Given the description of an element on the screen output the (x, y) to click on. 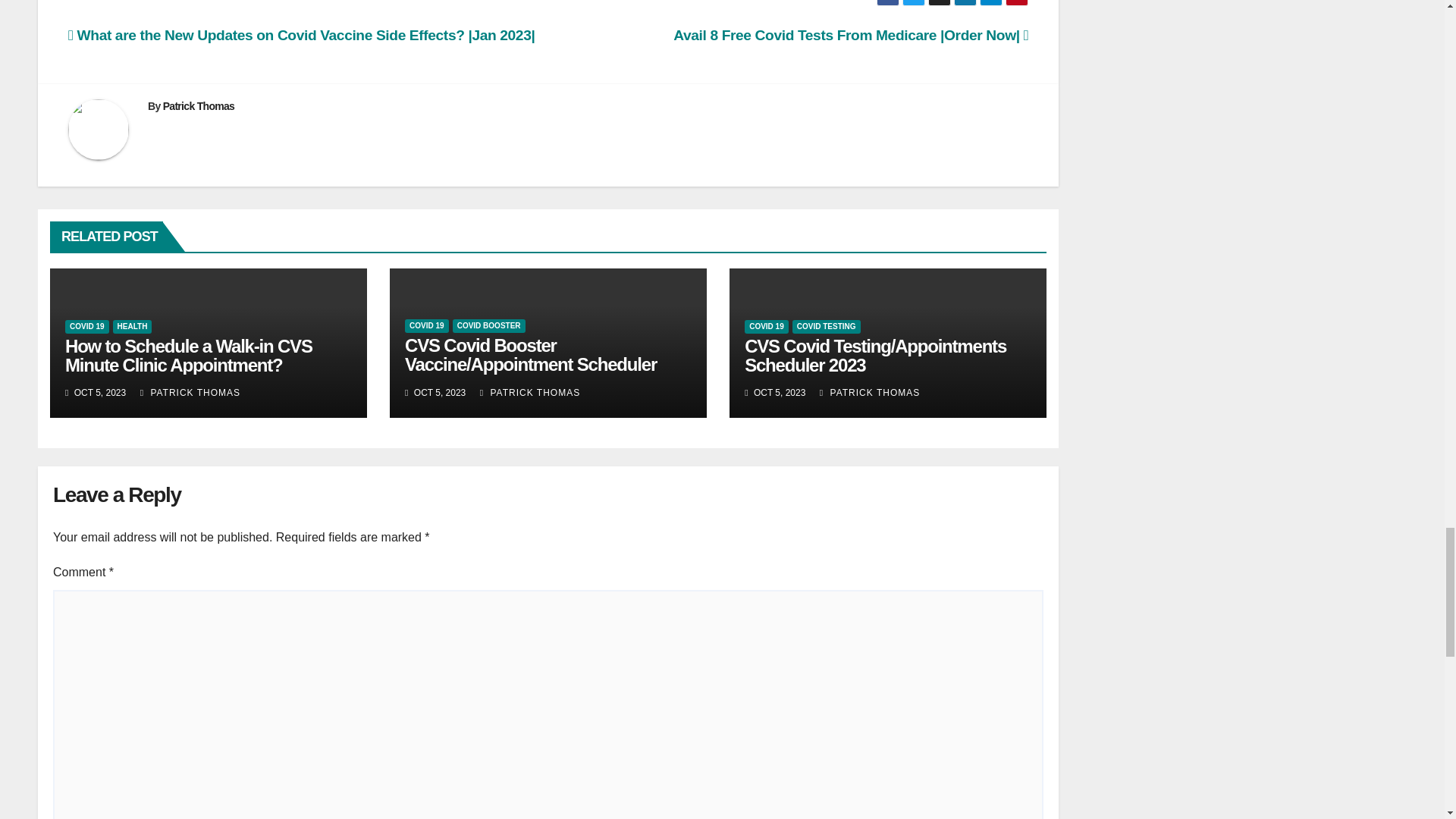
Patrick Thomas (198, 105)
COVID 19 (87, 326)
